Given the description of an element on the screen output the (x, y) to click on. 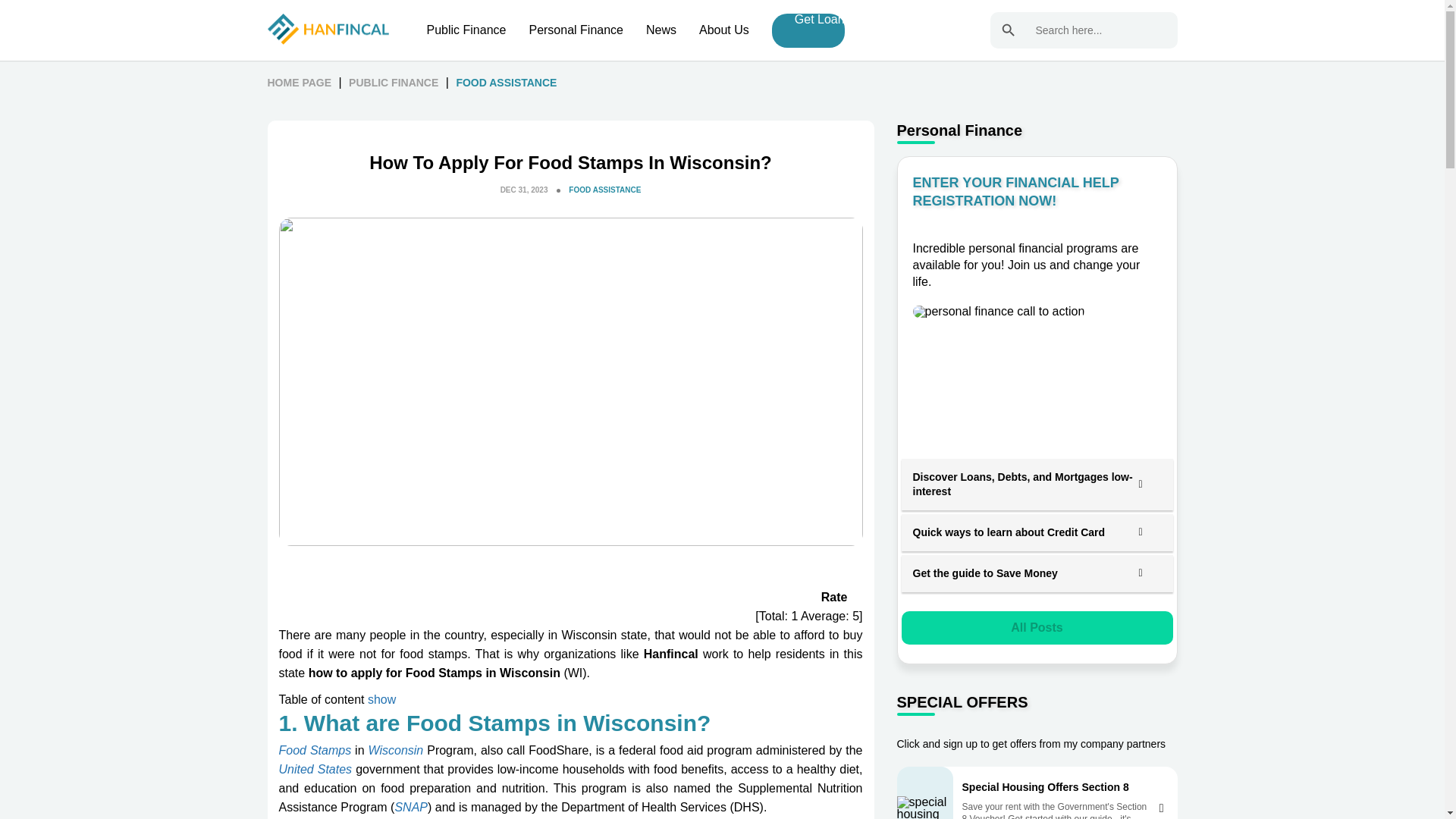
HOME PAGE (298, 82)
United States (315, 768)
FOOD ASSISTANCE (604, 189)
News (661, 29)
About Us (723, 29)
Food Stamps (315, 749)
Get Loan (819, 30)
Personal Finance (575, 29)
Search Button (1008, 30)
Public Finance (465, 29)
